Given the description of an element on the screen output the (x, y) to click on. 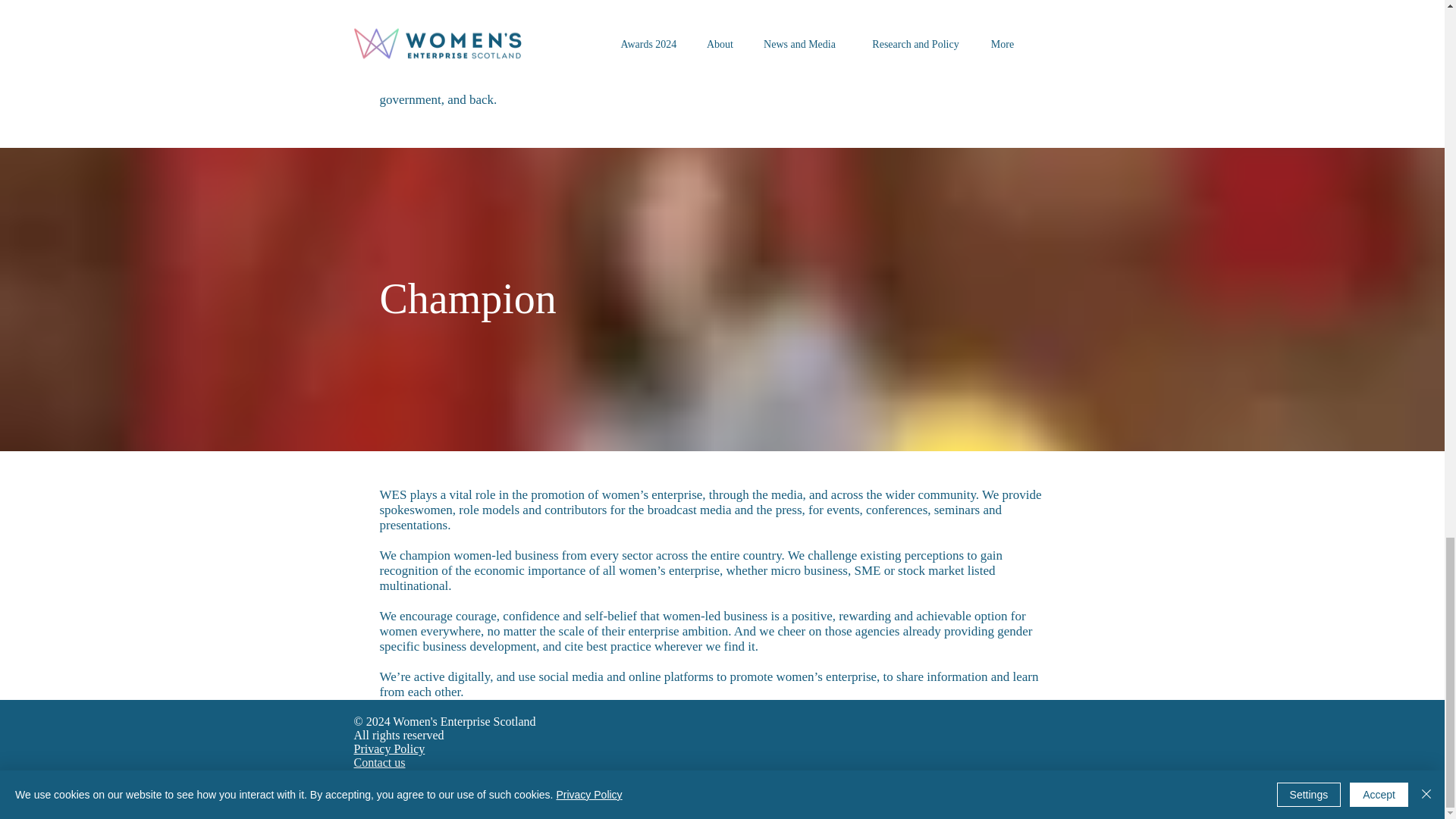
Privacy Policy (389, 748)
Contact us (378, 762)
